Given the description of an element on the screen output the (x, y) to click on. 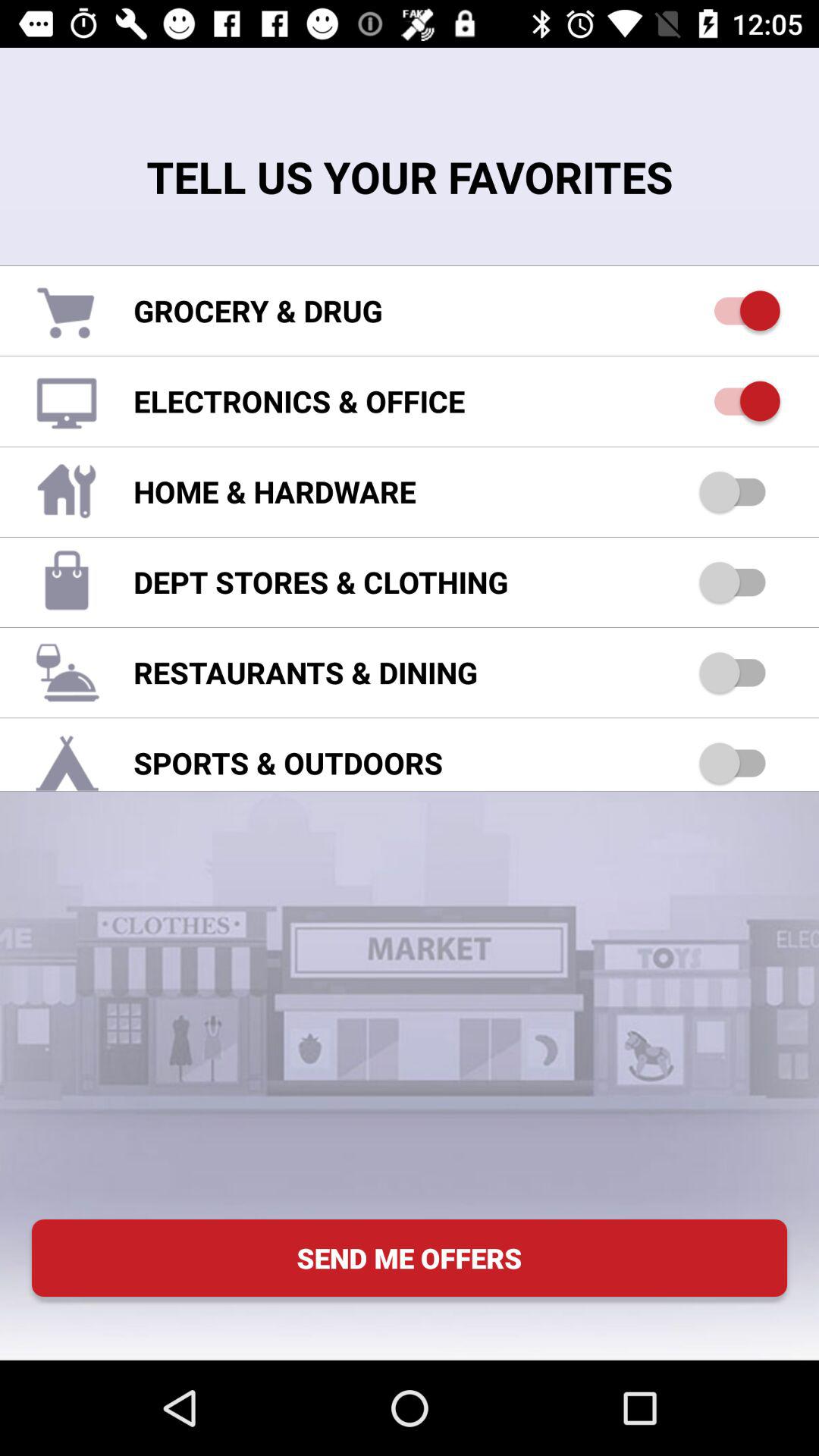
toggle electronics and office categories (739, 401)
